Given the description of an element on the screen output the (x, y) to click on. 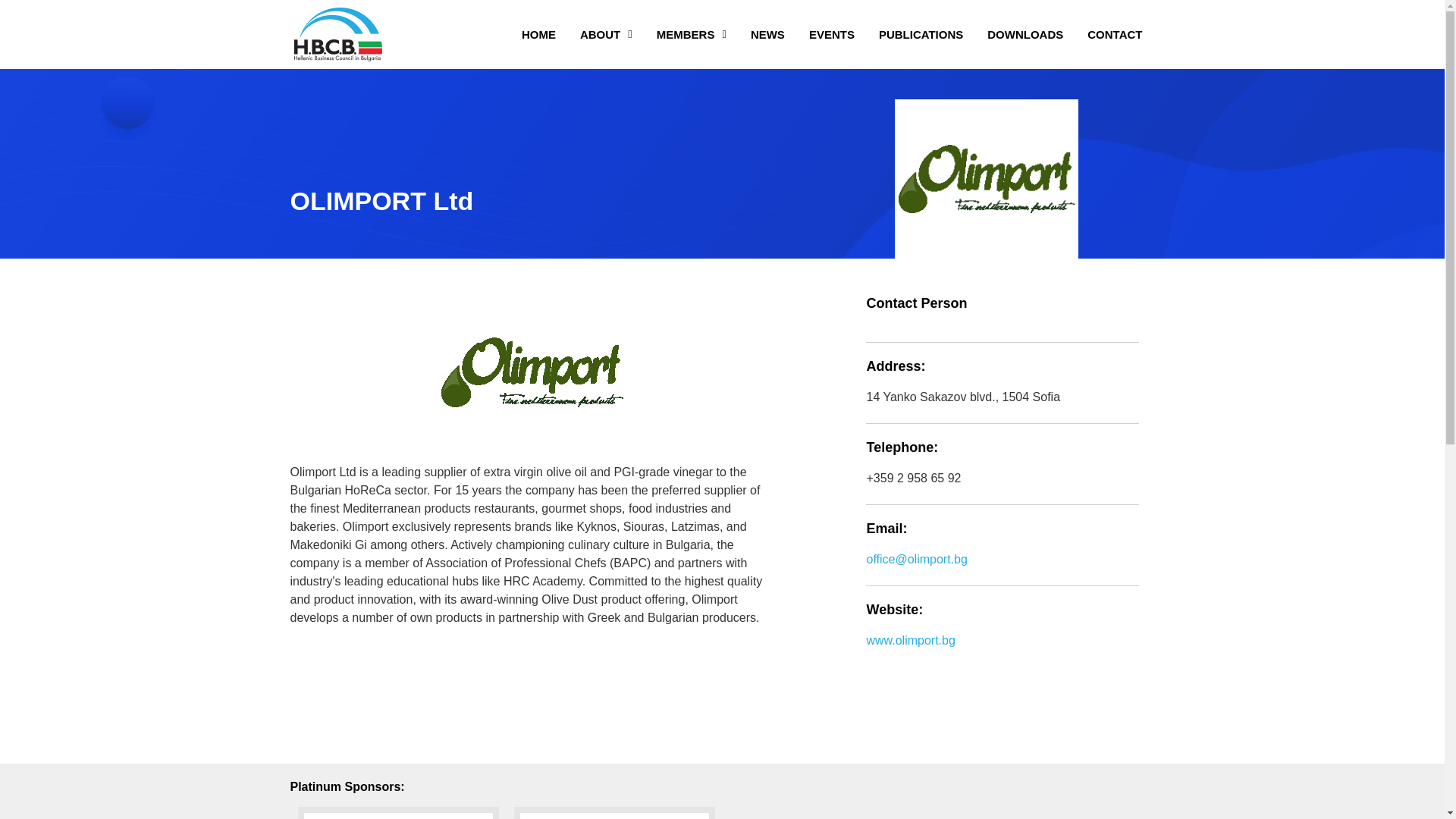
Coca Cola HBC (613, 812)
ABOUT (606, 33)
HOME (538, 33)
MEMBERS (691, 33)
DOWNLOADS (1025, 33)
NEWS (767, 33)
CONTACT (1114, 33)
Postbank (397, 812)
EVENTS (831, 33)
PUBLICATIONS (920, 33)
